Given the description of an element on the screen output the (x, y) to click on. 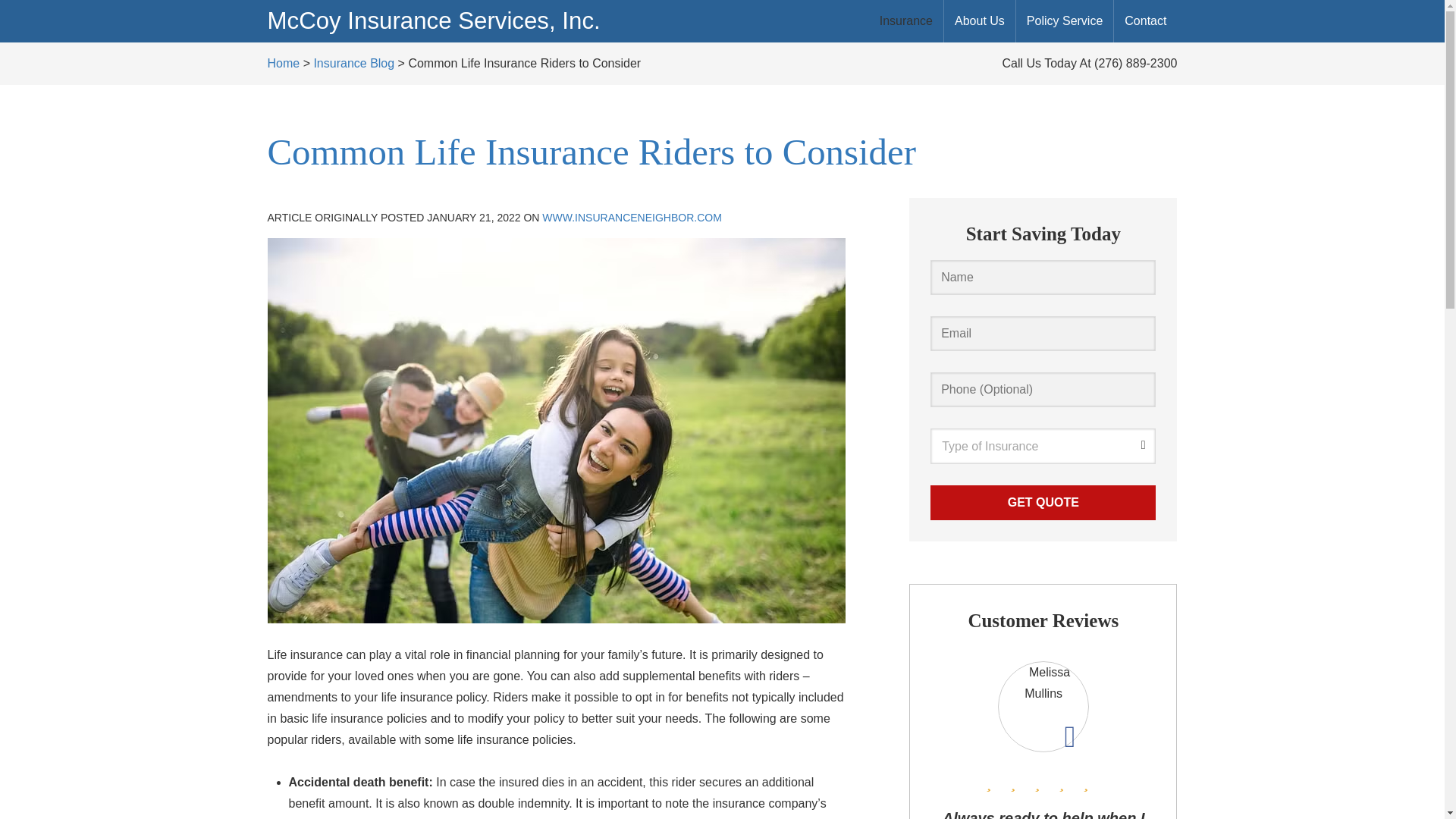
Insurance (906, 21)
Get Quote (1043, 502)
McCoy Insurance Services, Inc. (432, 20)
